Given the description of an element on the screen output the (x, y) to click on. 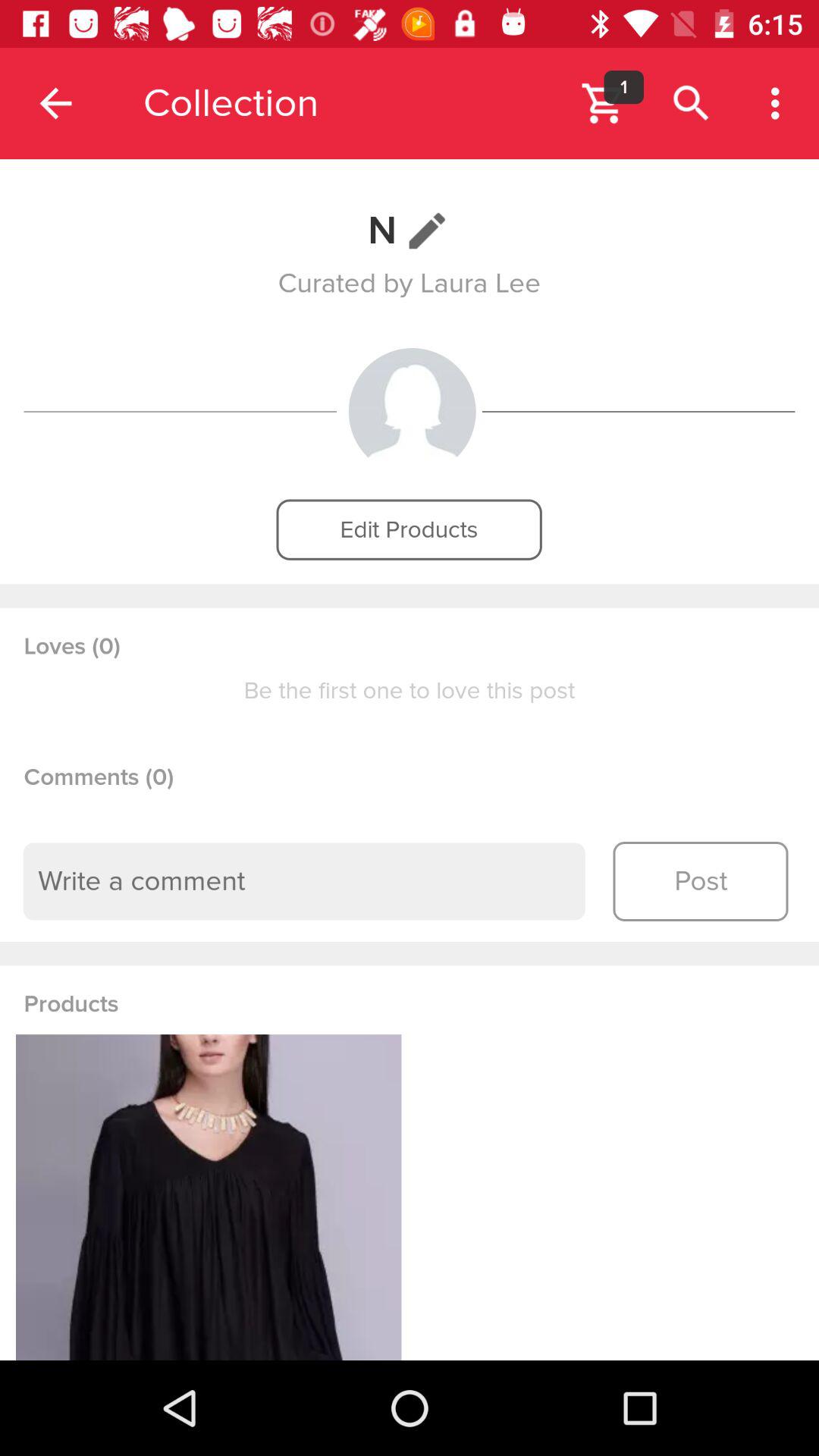
press the item next to collection icon (55, 103)
